Given the description of an element on the screen output the (x, y) to click on. 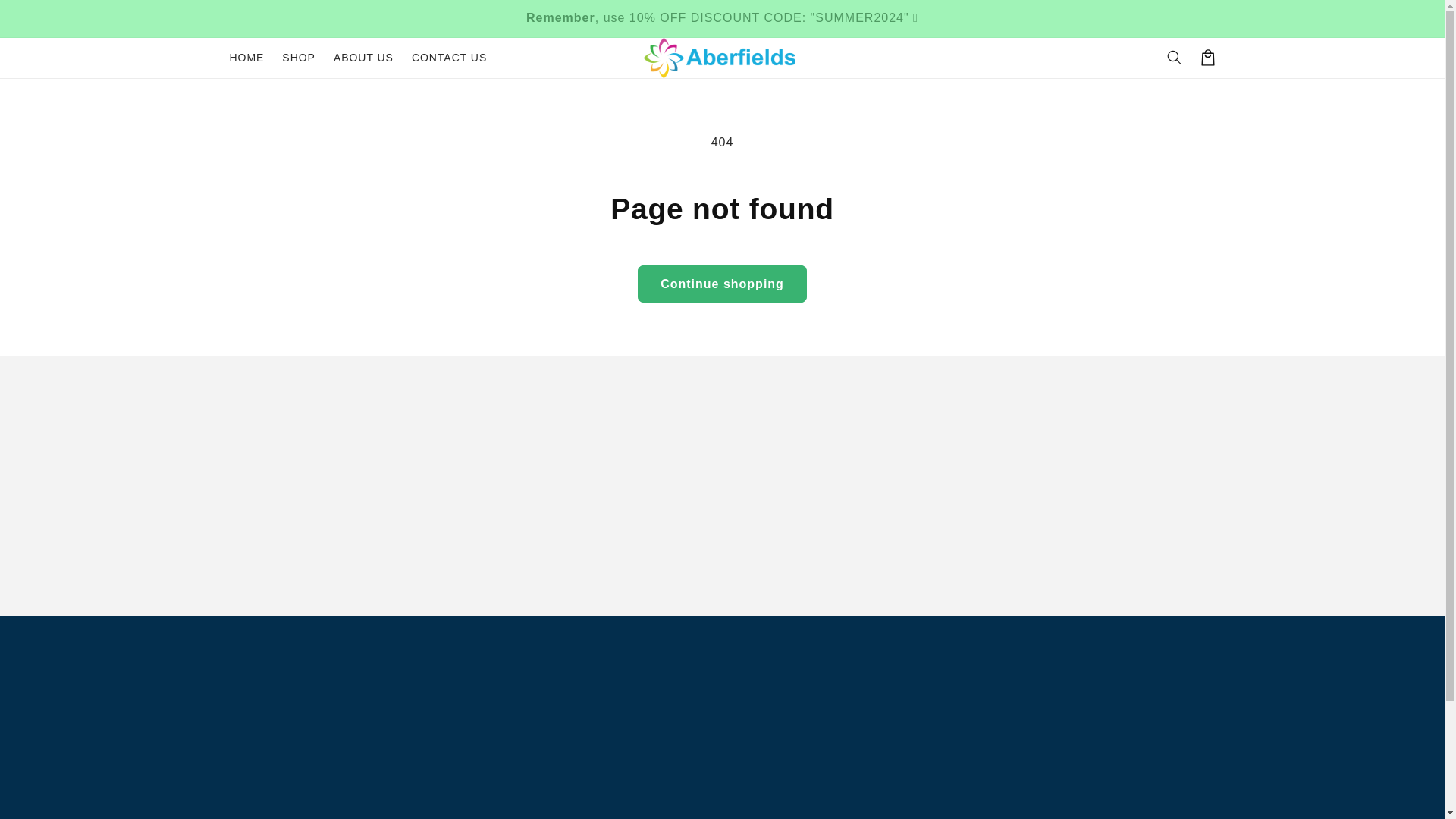
SHOP (298, 57)
CONTACT US (449, 57)
Skip to content (46, 18)
Cart (1207, 57)
Continue shopping (721, 283)
HOME (246, 57)
ABOUT US (363, 57)
